Given the description of an element on the screen output the (x, y) to click on. 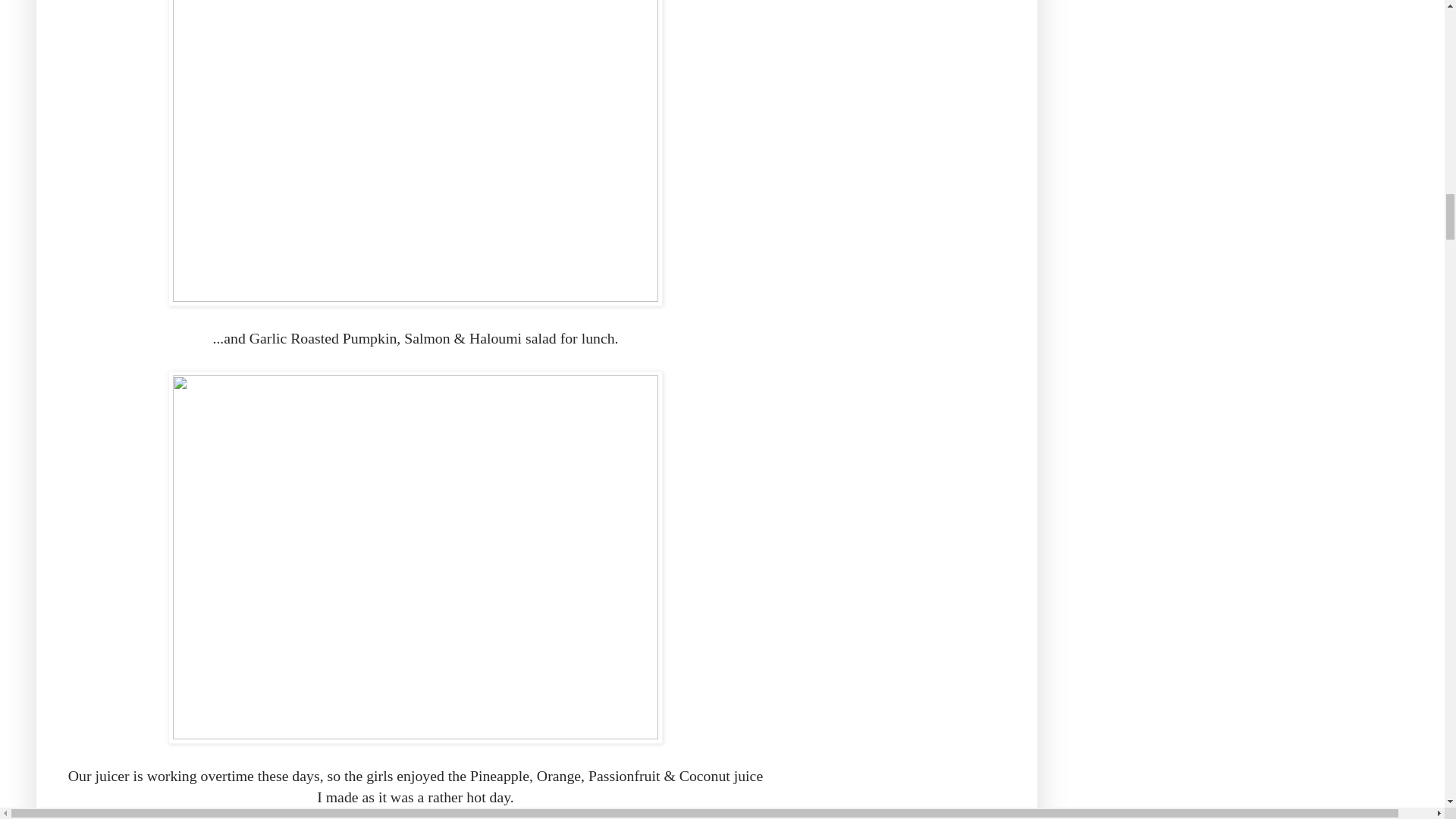
Wendy (208, 814)
